Given the description of an element on the screen output the (x, y) to click on. 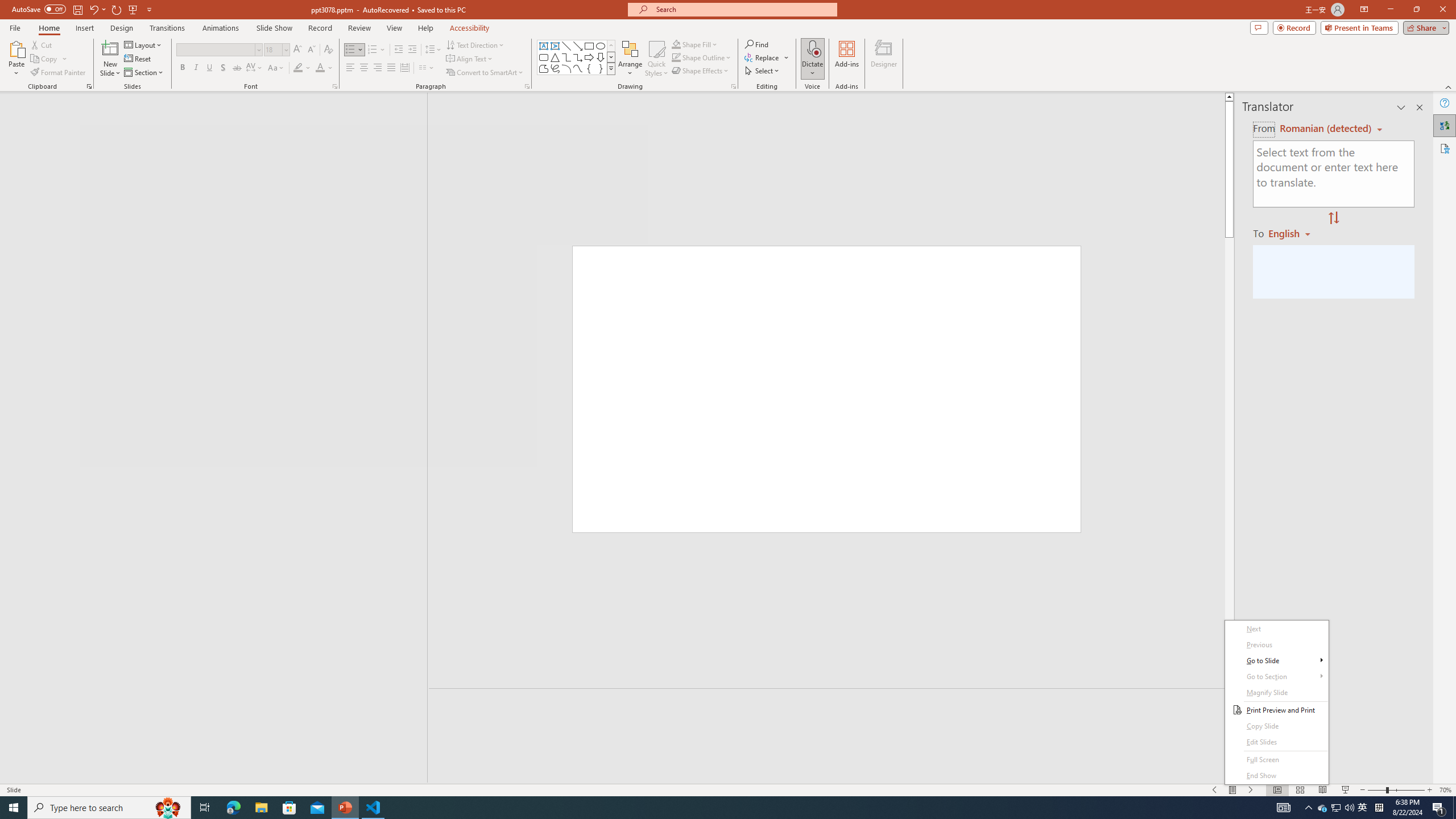
Shape Fill Dark Green, Accent 2 (675, 44)
Zoom 70% (1445, 790)
Next (1276, 628)
Copy Slide (1276, 726)
